Given the description of an element on the screen output the (x, y) to click on. 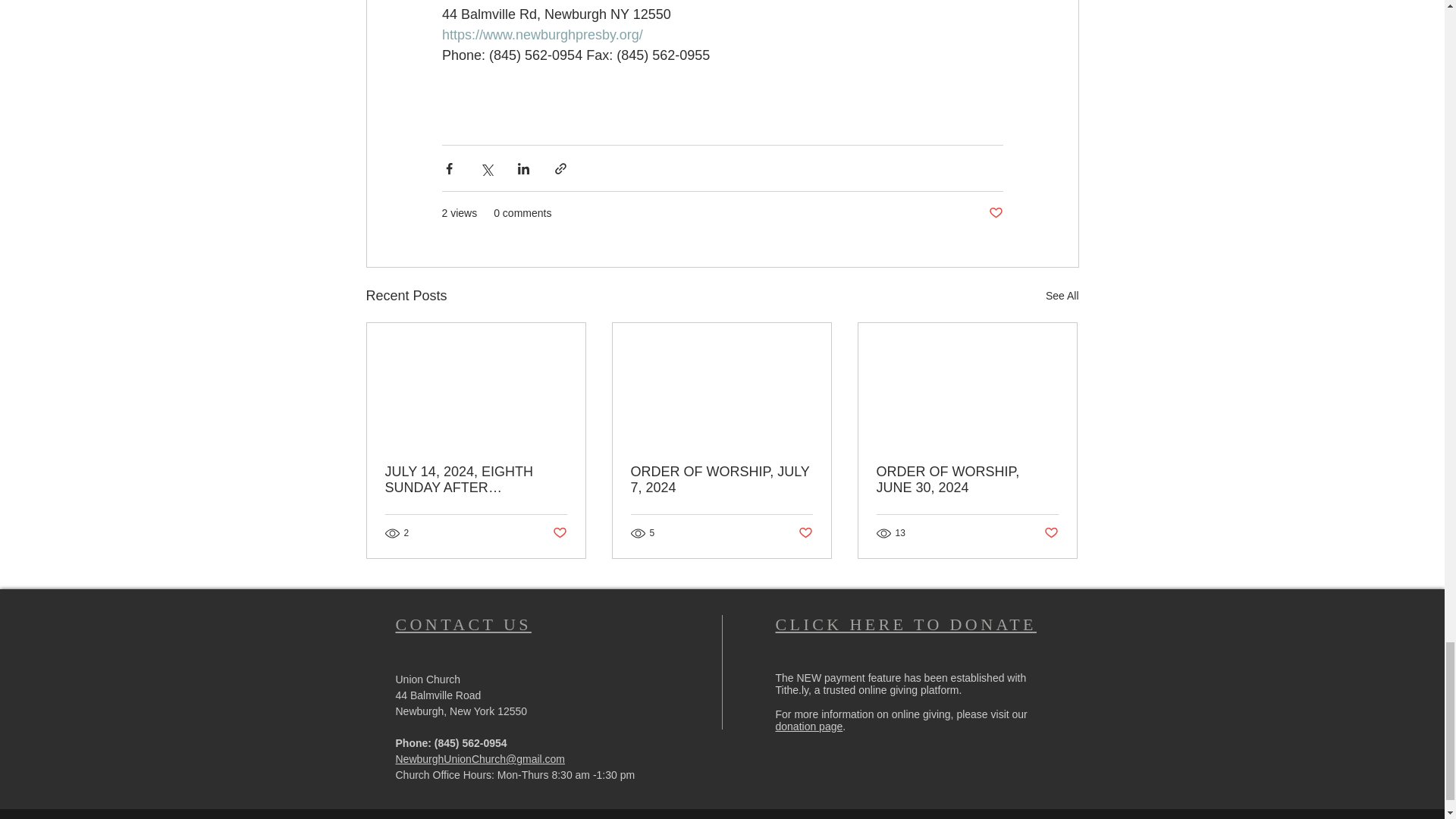
ORDER OF WORSHIP, JUNE 30, 2024 (967, 480)
ORDER OF WORSHIP, JULY 7, 2024 (721, 480)
donation page (808, 726)
Post not marked as liked (558, 532)
CONTACT US (463, 624)
Post not marked as liked (1050, 532)
See All (1061, 296)
Post not marked as liked (804, 532)
CLICK HERE TO DONATE (904, 624)
Post not marked as liked (995, 213)
JULY 14, 2024, EIGHTH SUNDAY AFTER PENTECOST (476, 480)
